Given the description of an element on the screen output the (x, y) to click on. 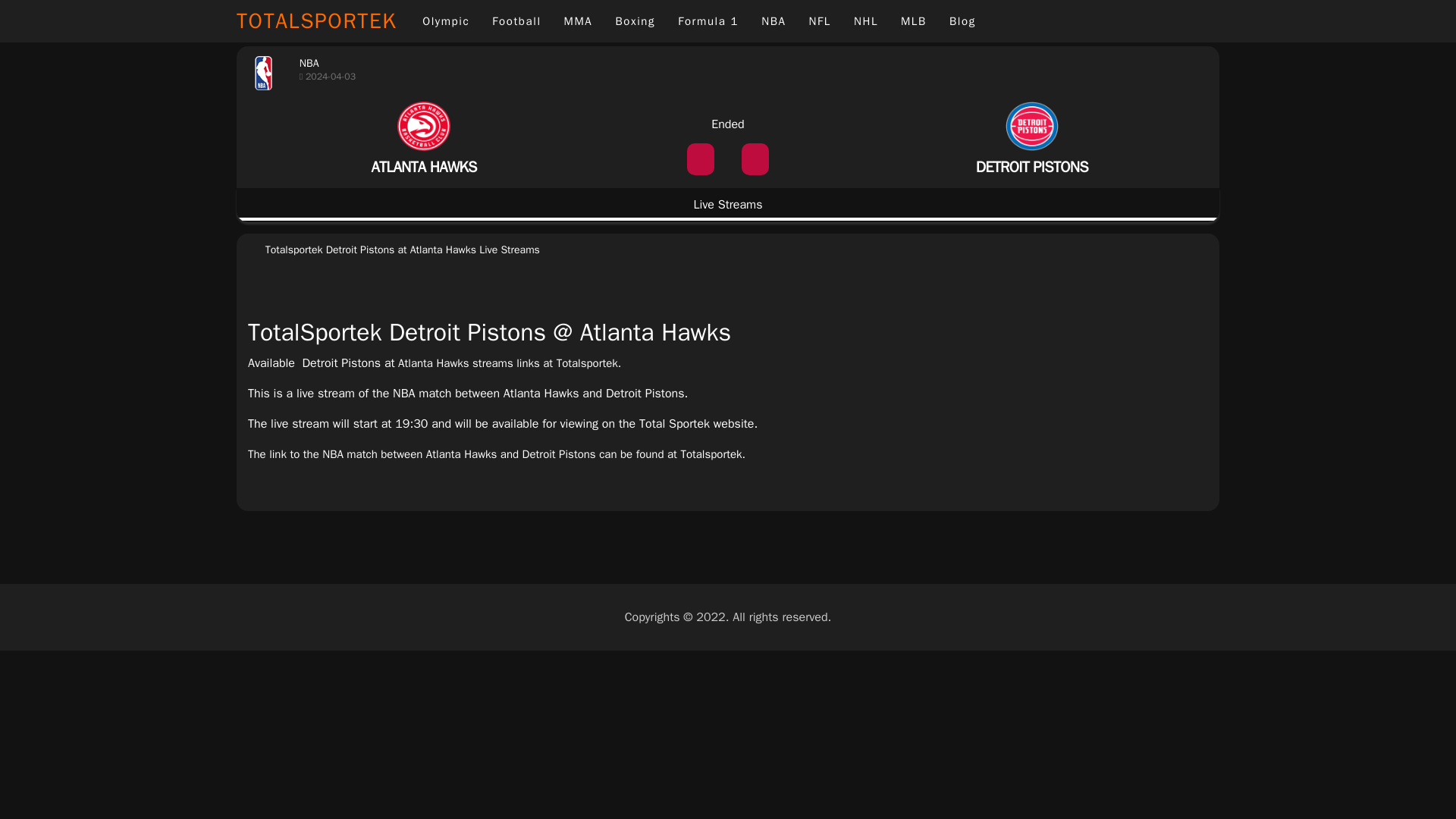
MMA (578, 20)
TOTALSPORTEK (322, 21)
MLB (913, 20)
NHL (866, 20)
Blog (962, 20)
NFL (820, 20)
Live Streams (727, 205)
Boxing (635, 20)
NBA (772, 20)
Olympic (445, 20)
Formula 1 (707, 20)
Football (515, 20)
